Given the description of an element on the screen output the (x, y) to click on. 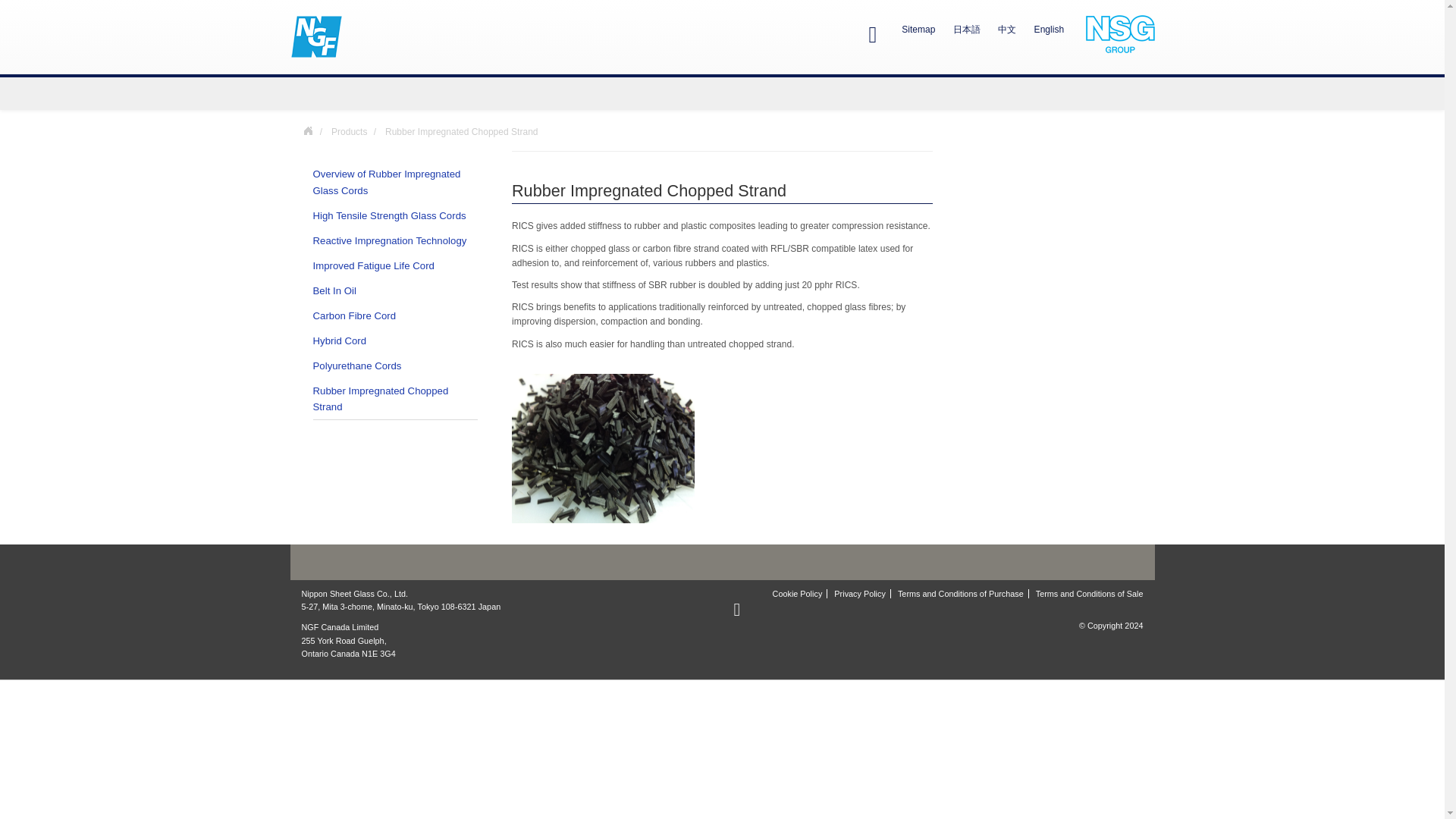
English (1048, 30)
submit (18, 18)
Sitemap (917, 30)
